Given the description of an element on the screen output the (x, y) to click on. 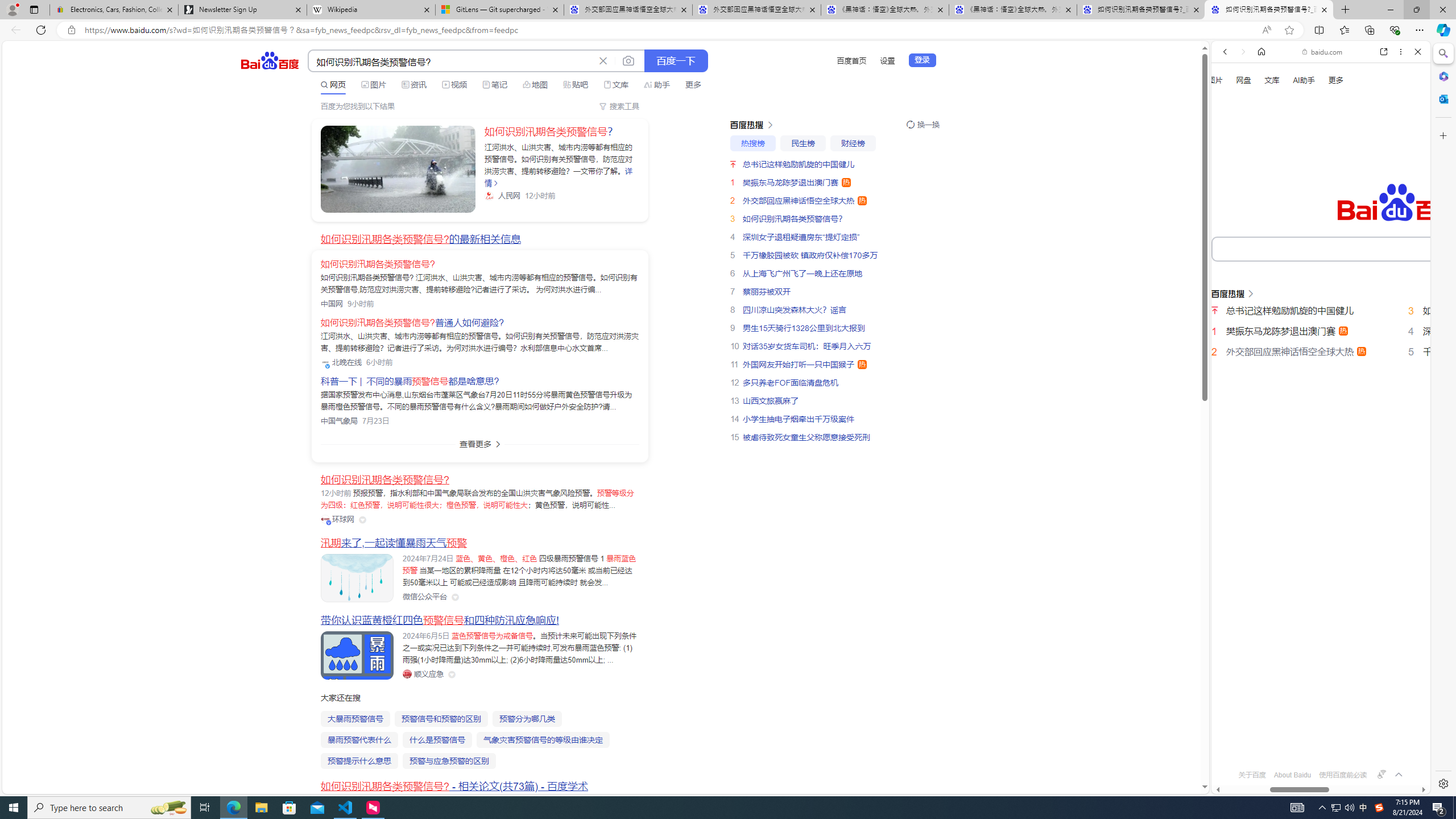
Preferences (1403, 191)
Search Filter, WEB (1230, 192)
Search the web (1326, 78)
About Baidu (1292, 774)
To get missing image descriptions, open the context menu. (1229, 130)
